Given the description of an element on the screen output the (x, y) to click on. 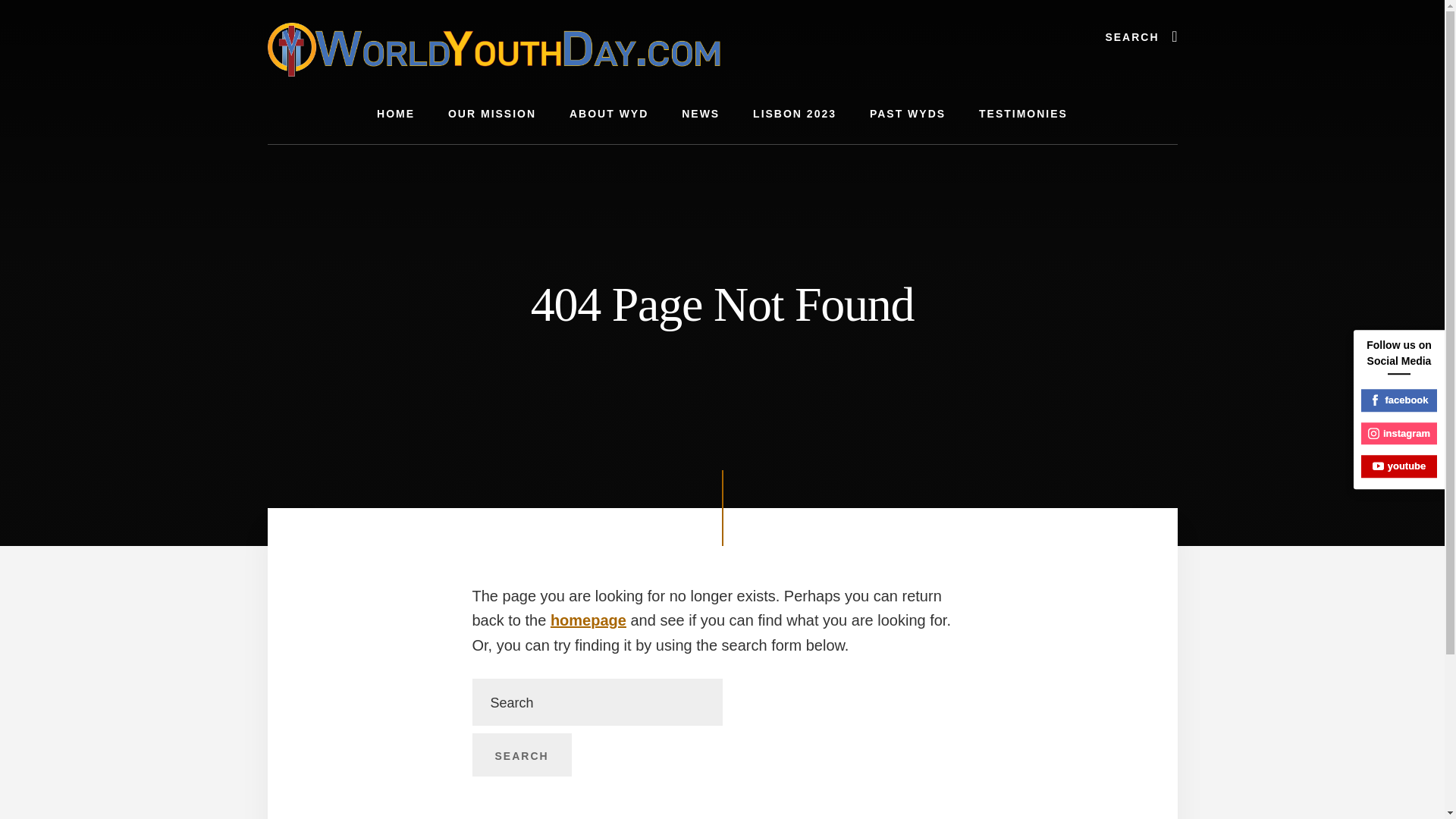
homepage (588, 619)
HOME (395, 114)
Search (520, 755)
Search (520, 755)
youtube (1399, 466)
facebook (1399, 400)
ABOUT WYD (608, 114)
PAST WYDS (907, 114)
Search (520, 755)
